Given the description of an element on the screen output the (x, y) to click on. 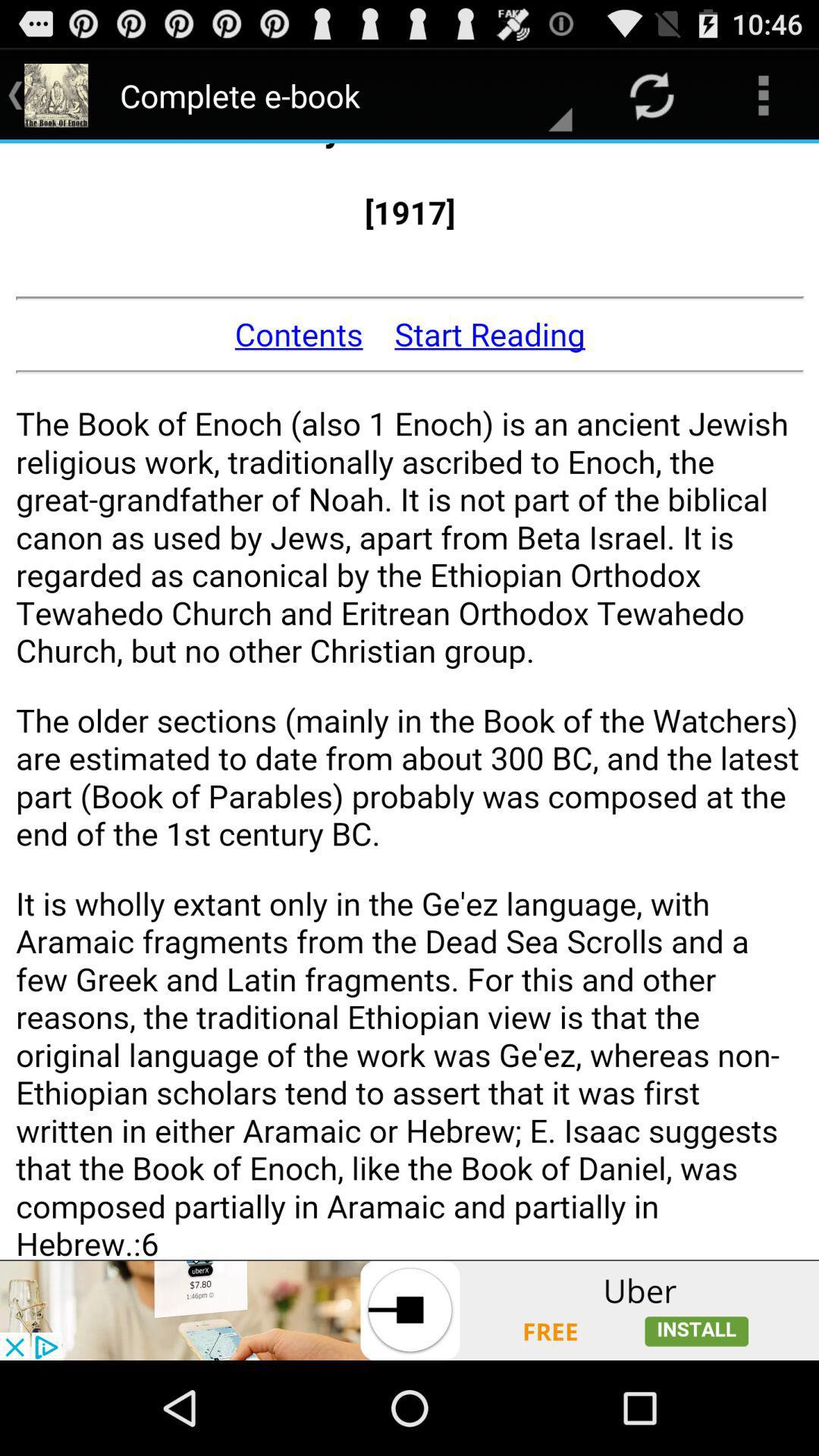
app advertisement (409, 1310)
